Given the description of an element on the screen output the (x, y) to click on. 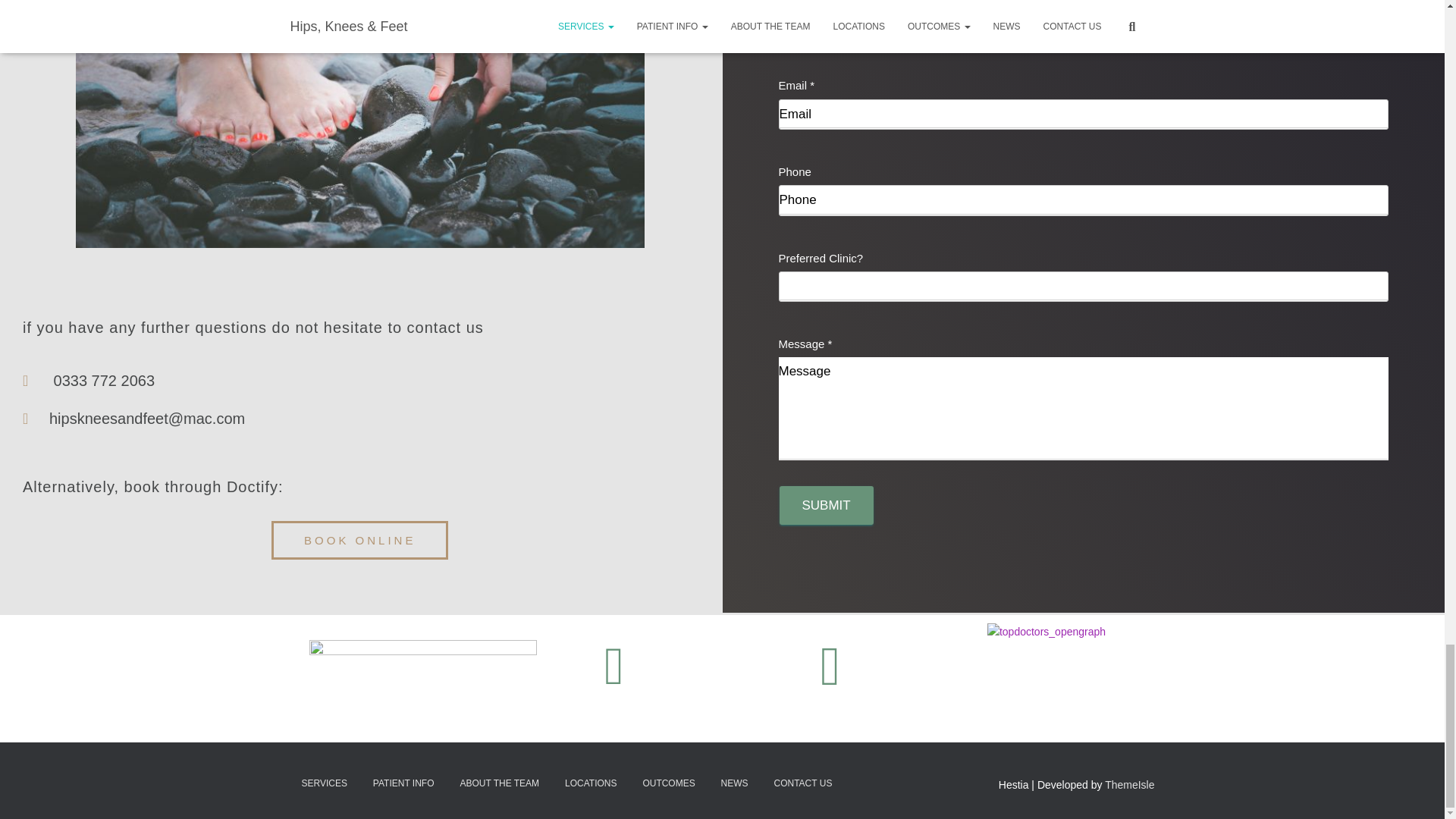
SERVICES (323, 783)
SUBMIT (825, 505)
PATIENT INFO (403, 783)
ABOUT THE TEAM (499, 783)
BOOK ONLINE (359, 539)
